Given the description of an element on the screen output the (x, y) to click on. 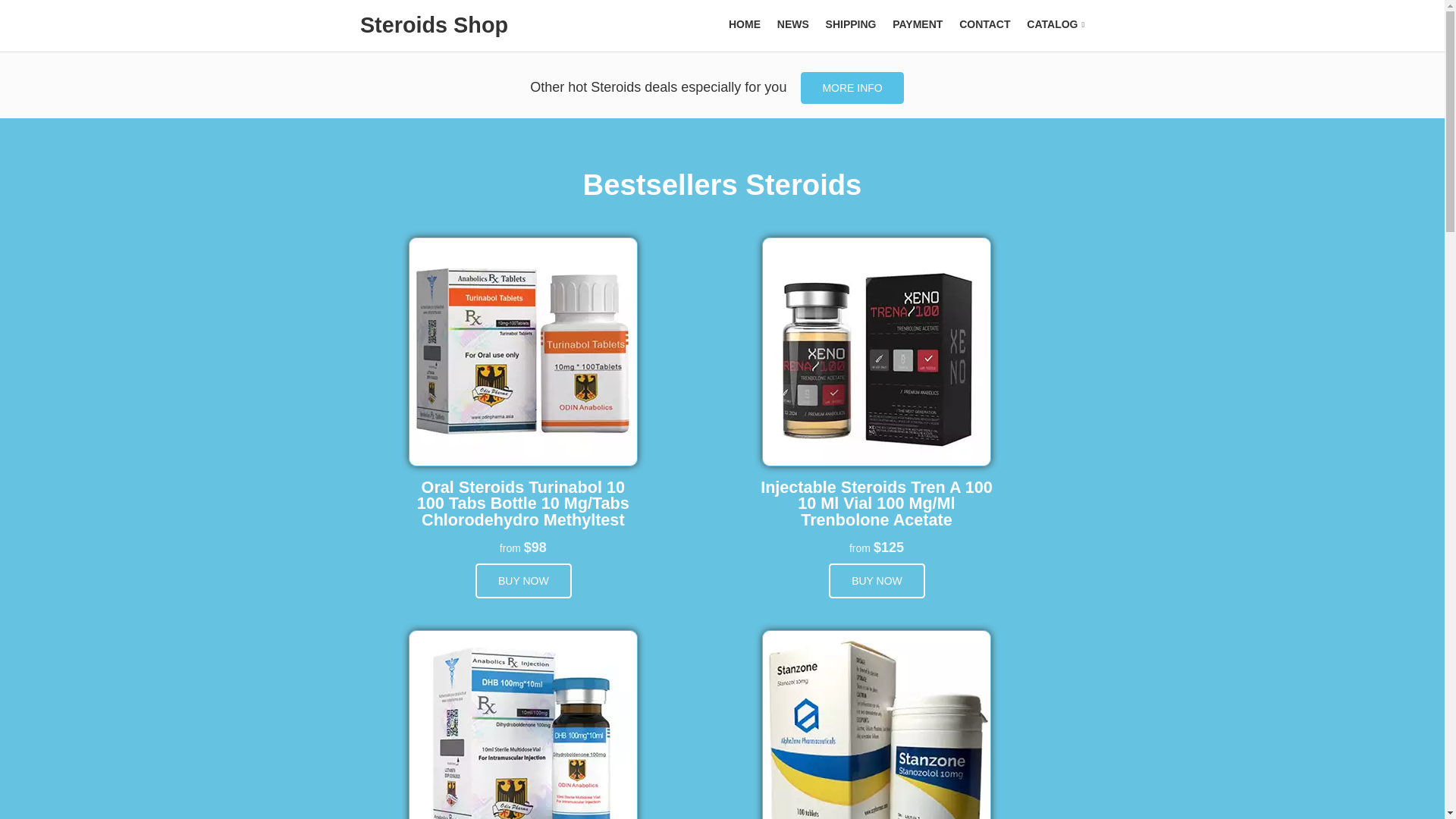
MORE INFO (851, 88)
CONTACT (984, 24)
CATALOG (1055, 24)
BUY NOW (876, 580)
PAYMENT (917, 24)
Steroids Shop (433, 24)
NEWS (793, 24)
HOME (744, 24)
BUY NOW (524, 580)
SHIPPING (850, 24)
